Given the description of an element on the screen output the (x, y) to click on. 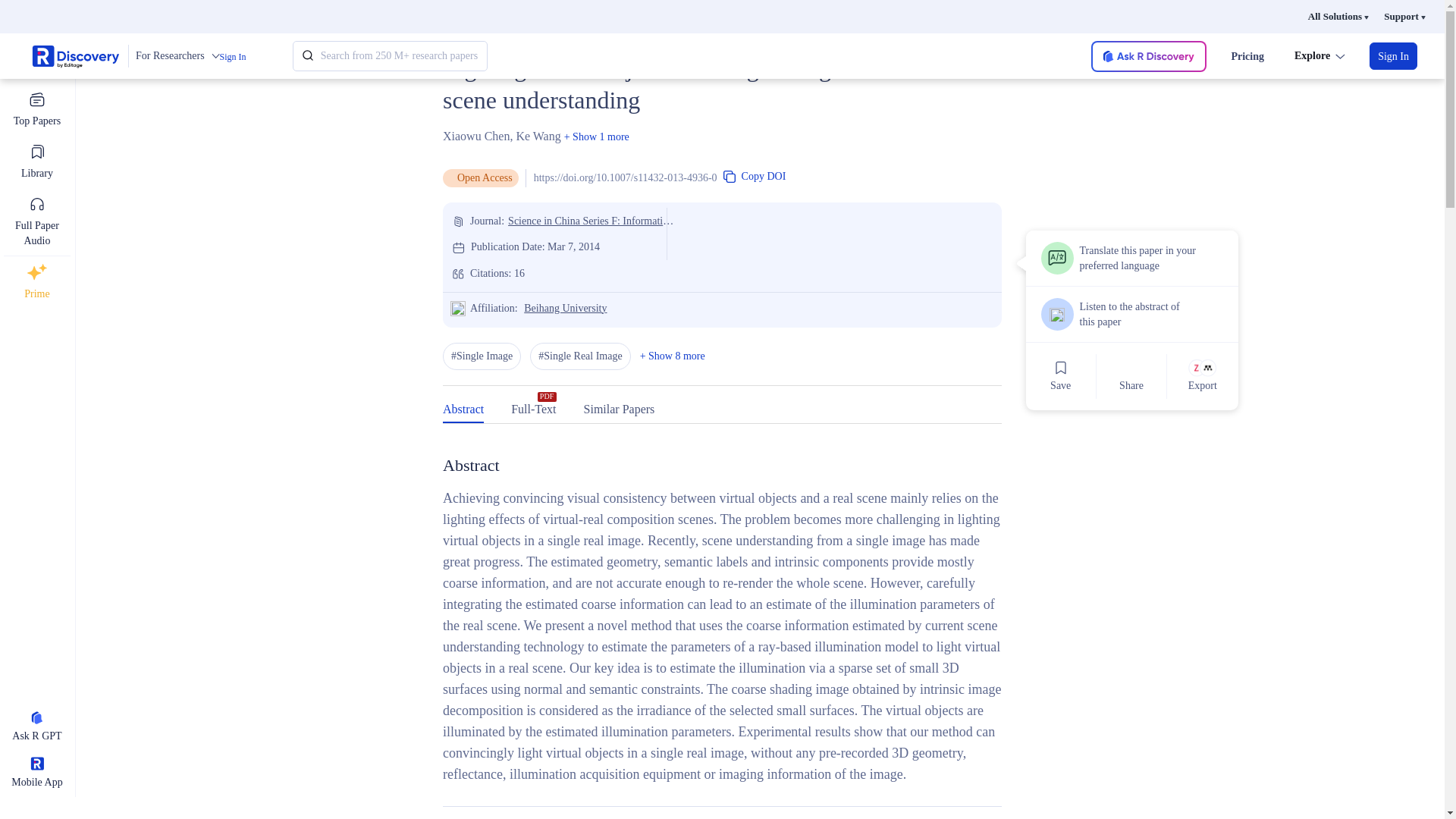
Library (36, 161)
Top Papers (36, 109)
Pricing (1246, 56)
Sign In (232, 56)
Single Real Image (579, 356)
Science in China Series F: Information Sciences (591, 221)
16 (518, 272)
Mobile App (36, 773)
Sign In (1393, 55)
Science in China Series F: Information Sciences (591, 221)
Single Image (481, 356)
Beihang University (565, 307)
Ask R GPT (36, 728)
All Solutions (1337, 16)
Prime (36, 282)
